Given the description of an element on the screen output the (x, y) to click on. 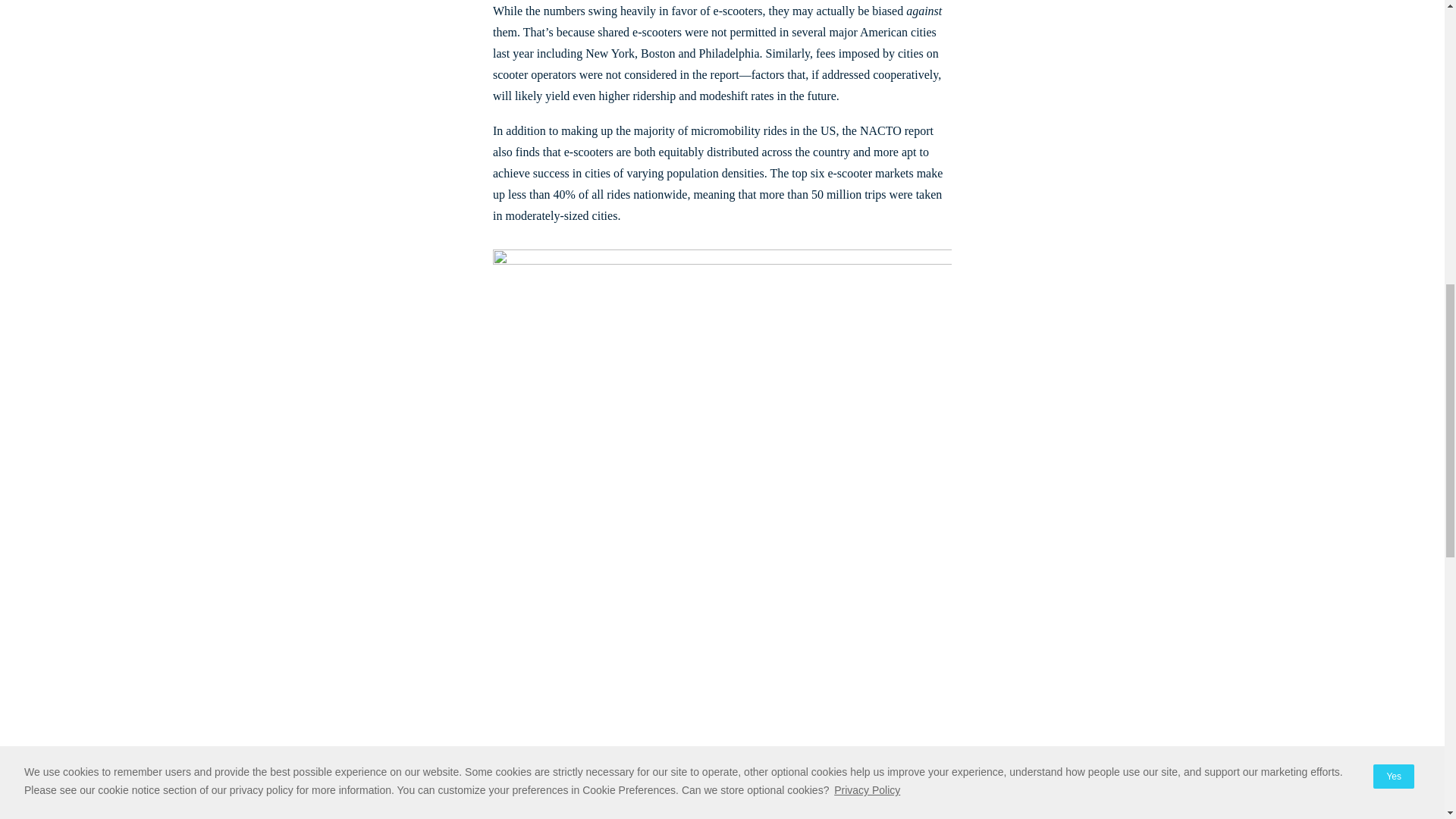
published in Transportation Research: Part A (767, 752)
